Given the description of an element on the screen output the (x, y) to click on. 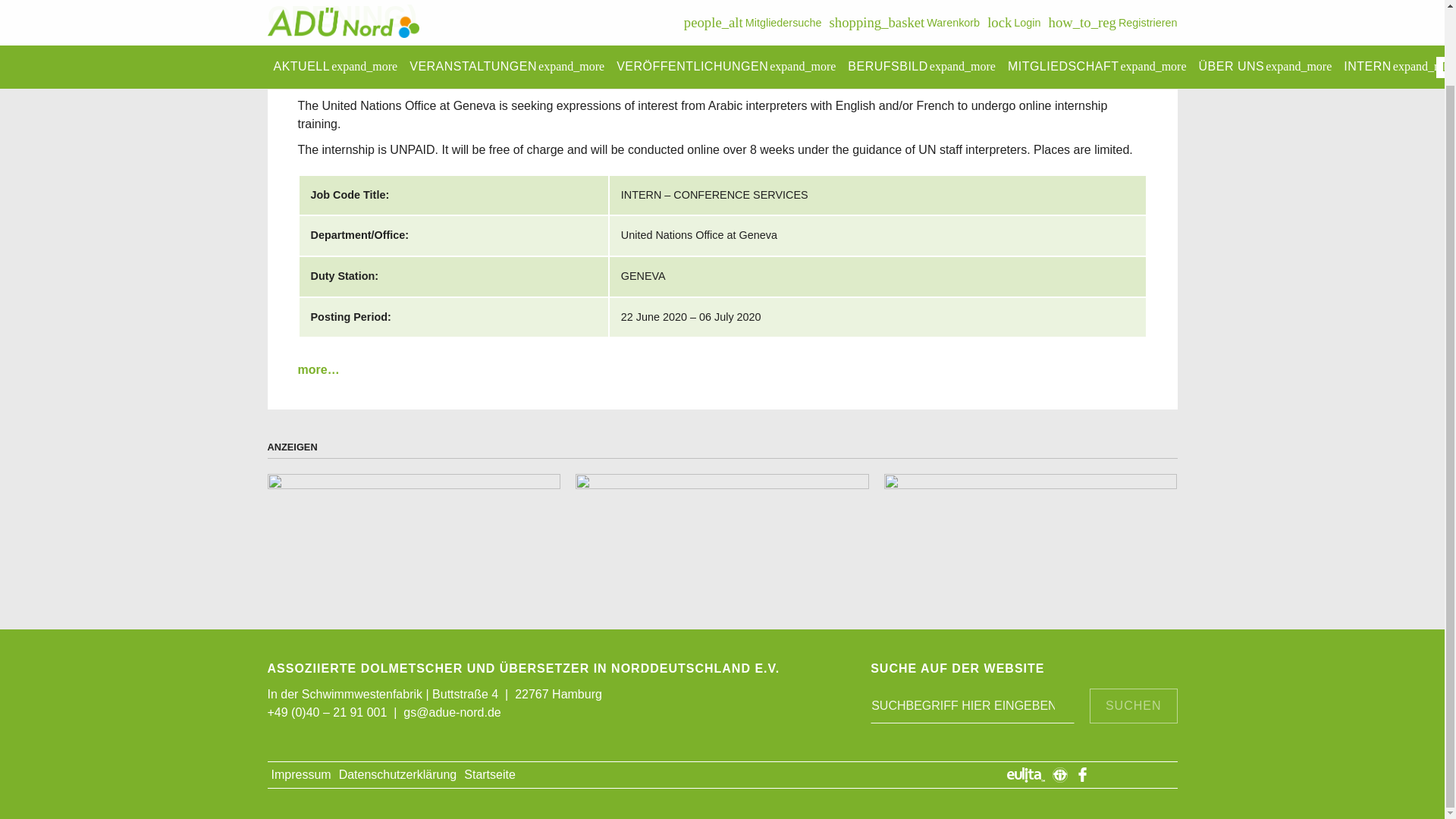
VERANSTALTUNGEN (506, 2)
AKTUELL (334, 2)
